Given the description of an element on the screen output the (x, y) to click on. 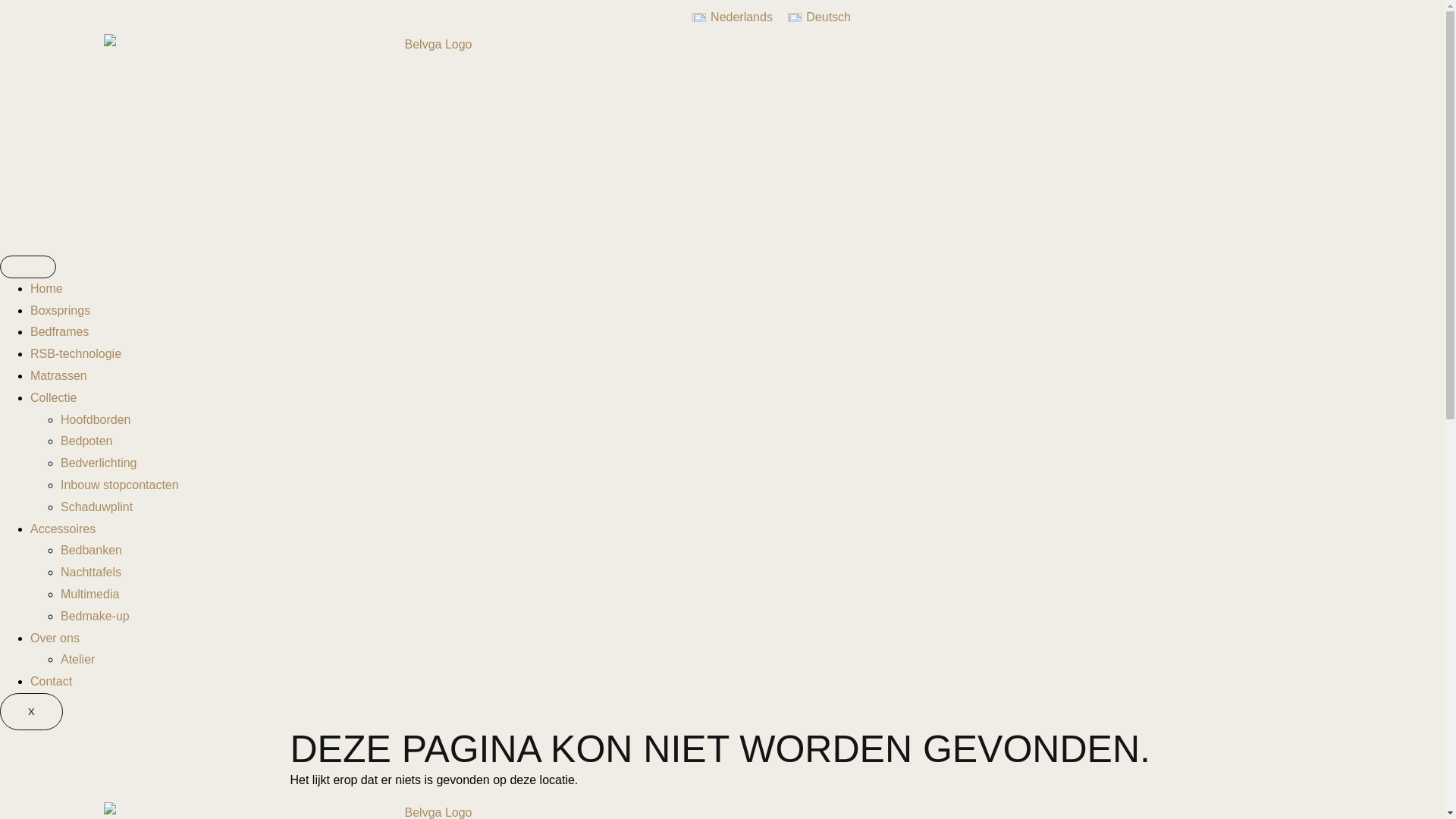
Bedbanken Element type: text (91, 549)
Bedpoten Element type: text (86, 440)
Accessoires Element type: text (62, 528)
Boxsprings Element type: text (60, 310)
Inbouw stopcontacten Element type: text (119, 484)
Matrassen Element type: text (58, 375)
Over ons Element type: text (54, 637)
Bedframes Element type: text (59, 331)
Home Element type: text (46, 288)
Nachttafels Element type: text (90, 571)
Bedverlichting Element type: text (98, 462)
Hoofdborden Element type: text (95, 419)
Nederlands Element type: text (732, 17)
Atelier Element type: text (77, 658)
X Element type: text (31, 712)
Multimedia Element type: text (89, 593)
Bedmake-up Element type: text (94, 615)
Deutsch Element type: text (819, 17)
Contact Element type: text (51, 680)
RSB-technologie Element type: text (75, 353)
Collectie Element type: text (53, 397)
Schaduwplint Element type: text (96, 506)
